Given the description of an element on the screen output the (x, y) to click on. 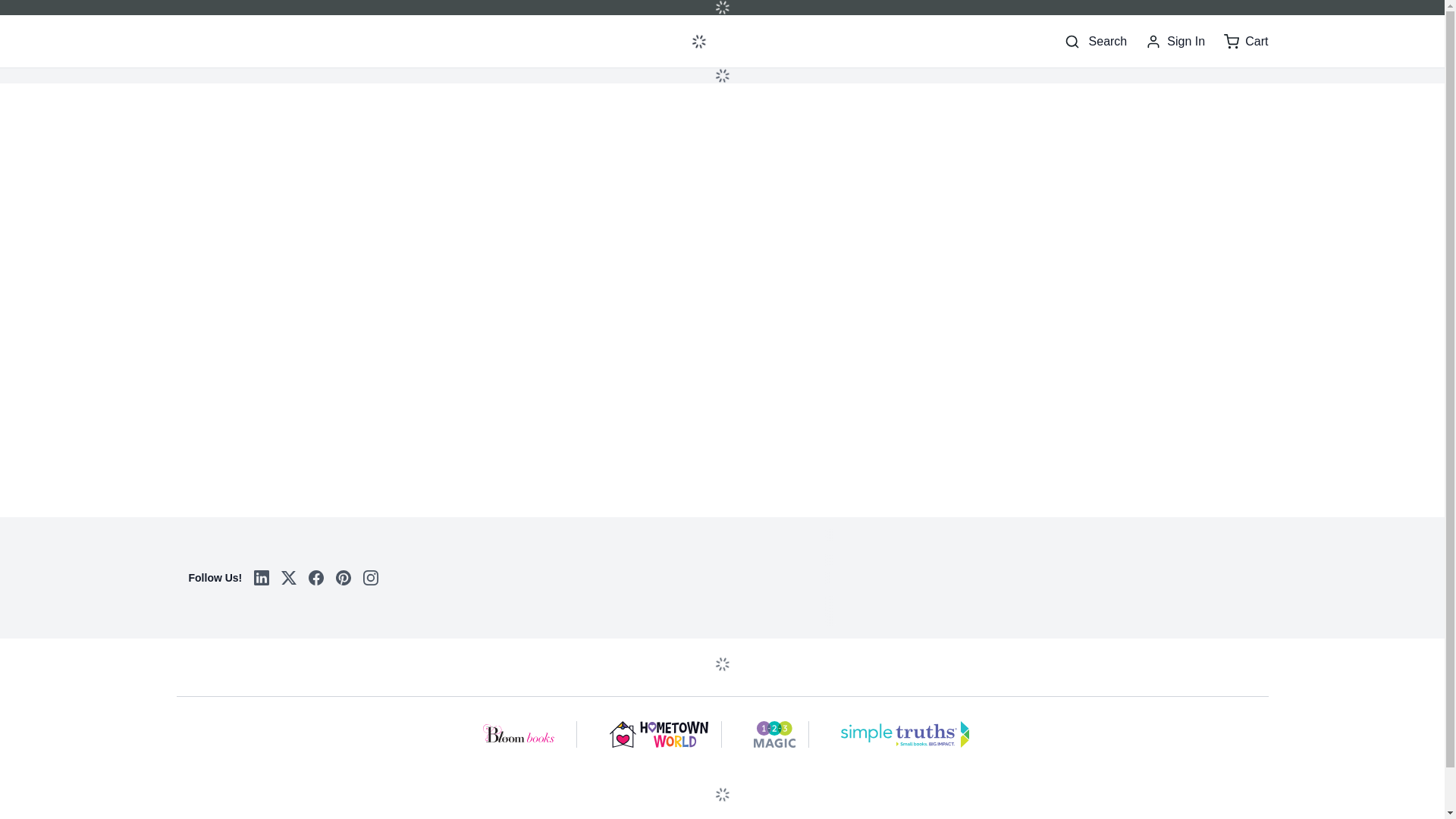
Bloom Book (520, 734)
Simple Truths (905, 734)
123 Magic (774, 734)
Sign In (1174, 41)
Sourcebooks (251, 41)
Search (1095, 41)
Hometown World (659, 734)
Cart (1246, 41)
